Given the description of an element on the screen output the (x, y) to click on. 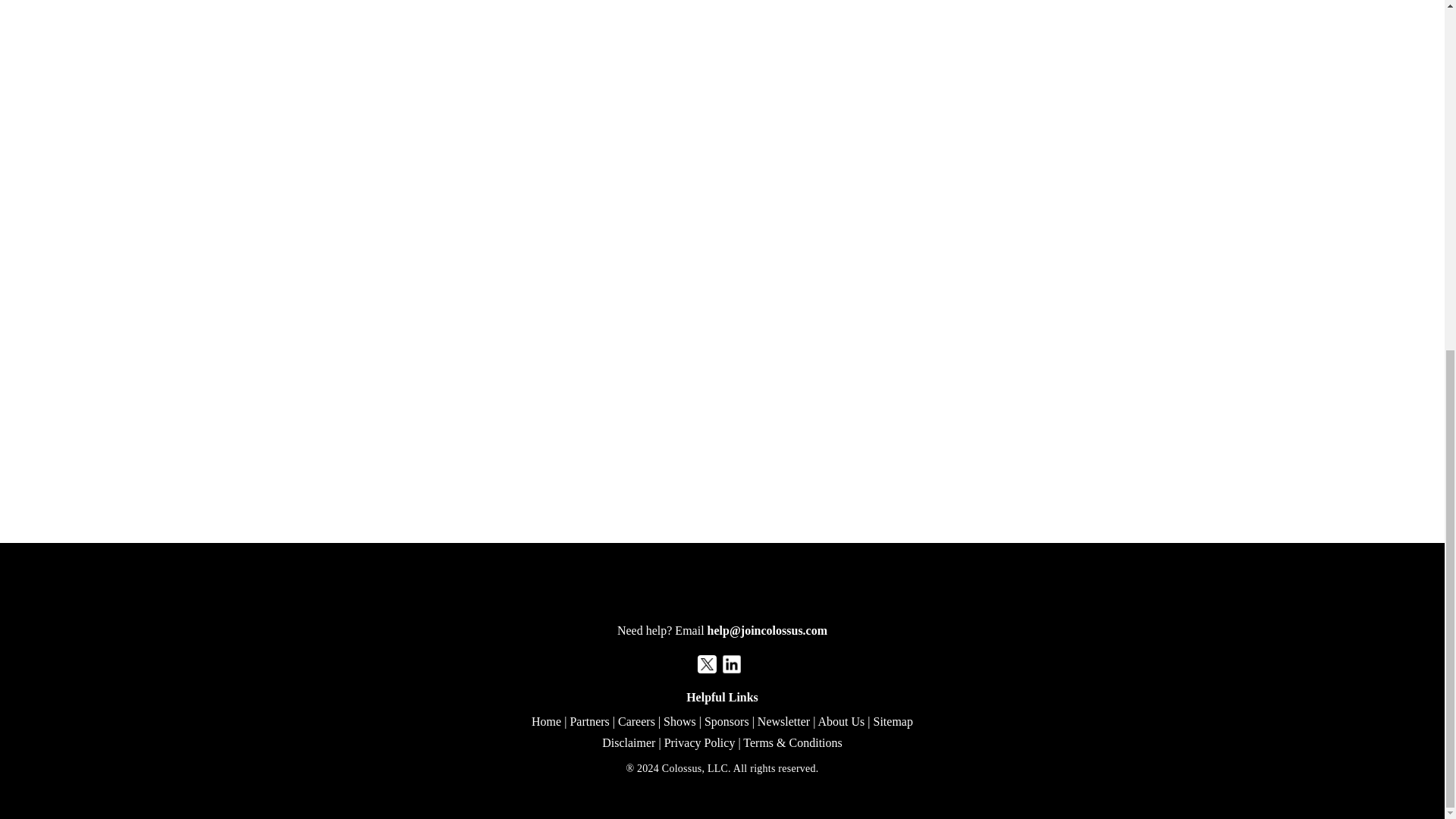
Sponsors (726, 721)
Careers (636, 721)
Home (545, 721)
OK (1369, 158)
Shows (679, 721)
Partners (588, 721)
Sitemap (892, 721)
Newsletter (783, 721)
Privacy Policy (699, 742)
About Us (840, 721)
Disclaimer (628, 742)
